Given the description of an element on the screen output the (x, y) to click on. 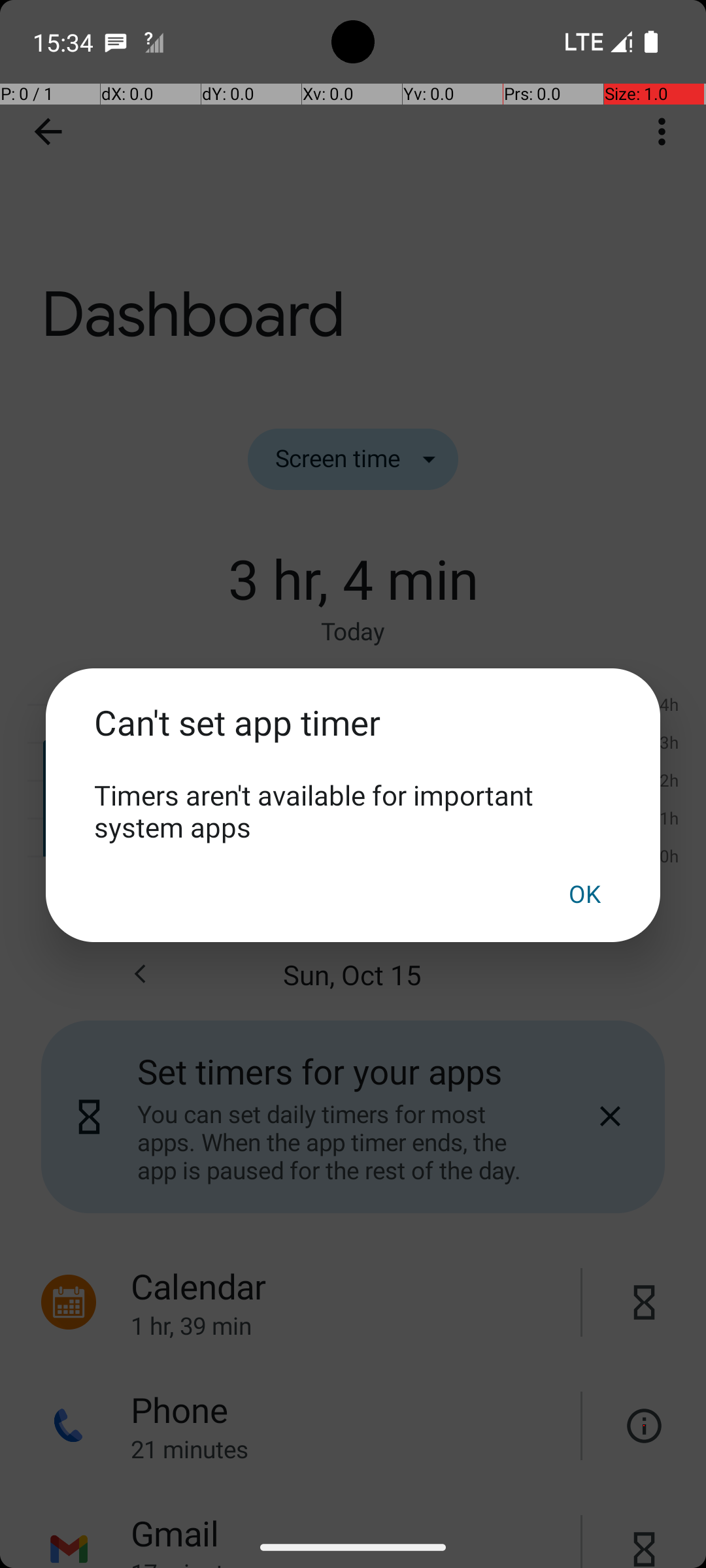
Can't set app timer Element type: android.widget.TextView (352, 737)
Timers aren't available for important system apps Element type: android.widget.TextView (352, 810)
